Given the description of an element on the screen output the (x, y) to click on. 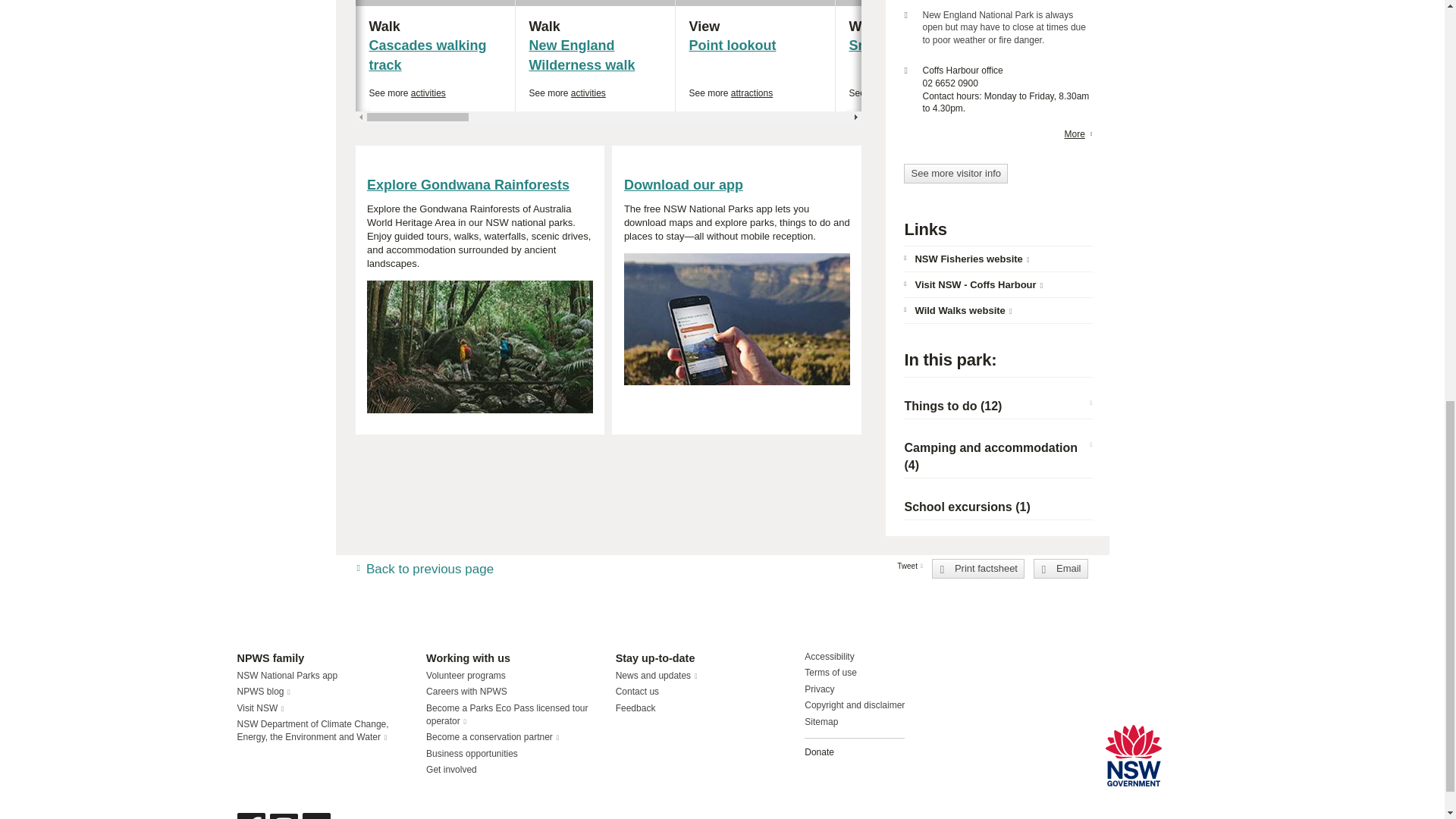
Cascades walking track (595, 55)
Walk (427, 54)
View (915, 55)
Snow Gum walk (1074, 55)
New England Wilderness walk (595, 26)
Stay (754, 26)
